Given the description of an element on the screen output the (x, y) to click on. 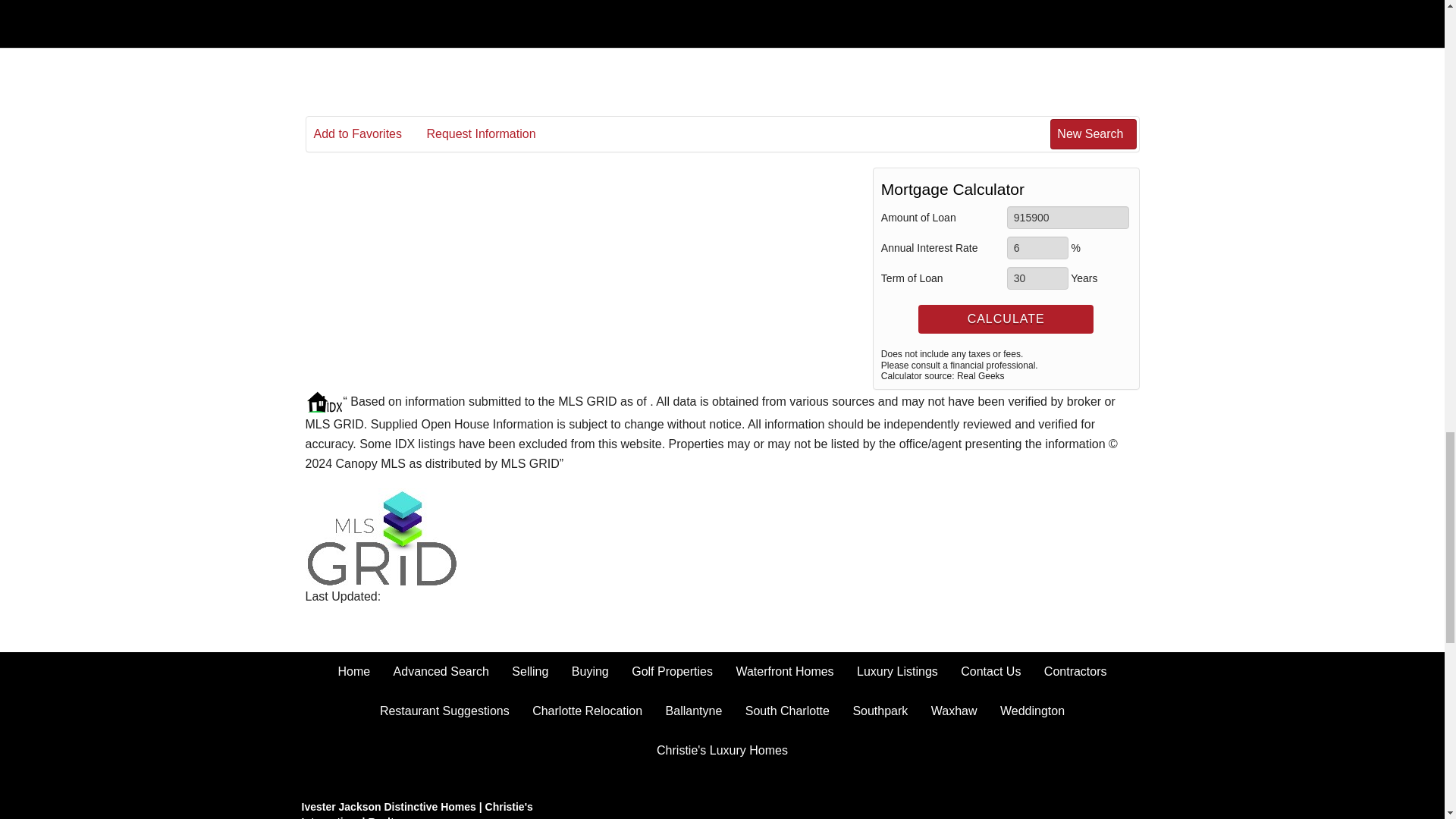
6 (1037, 247)
30 (1037, 277)
915900 (1068, 217)
